Given the description of an element on the screen output the (x, y) to click on. 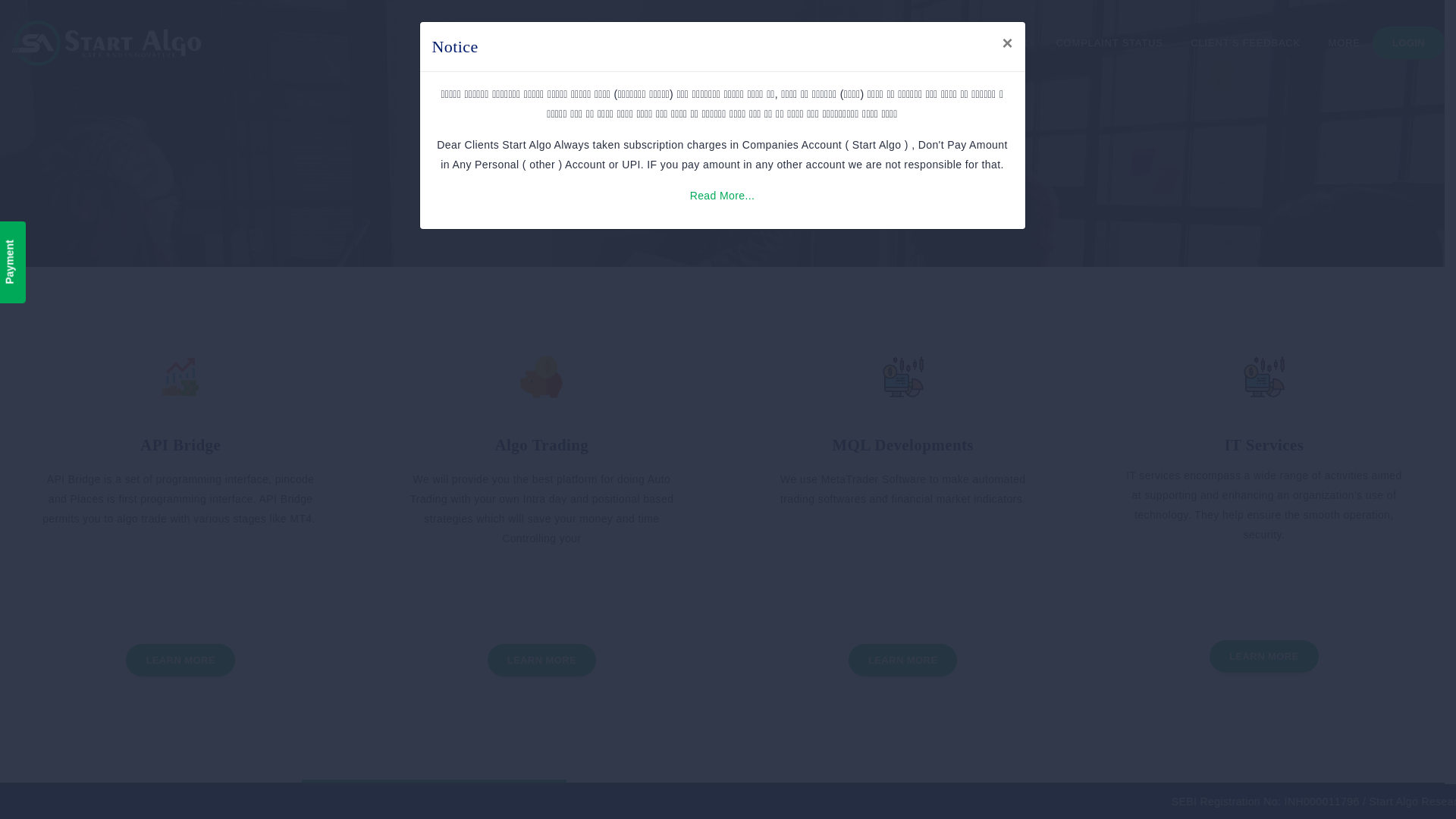
LOGIN (1408, 42)
CLIENT'S FEEDBACK (1245, 43)
IT Services (1263, 444)
LEARN MORE (179, 658)
MQL Developments (902, 444)
LEARN MORE (541, 658)
LEARN MORE (1263, 655)
LEARN MORE (902, 658)
API Bridge (180, 444)
Algo Trading (542, 444)
